Given the description of an element on the screen output the (x, y) to click on. 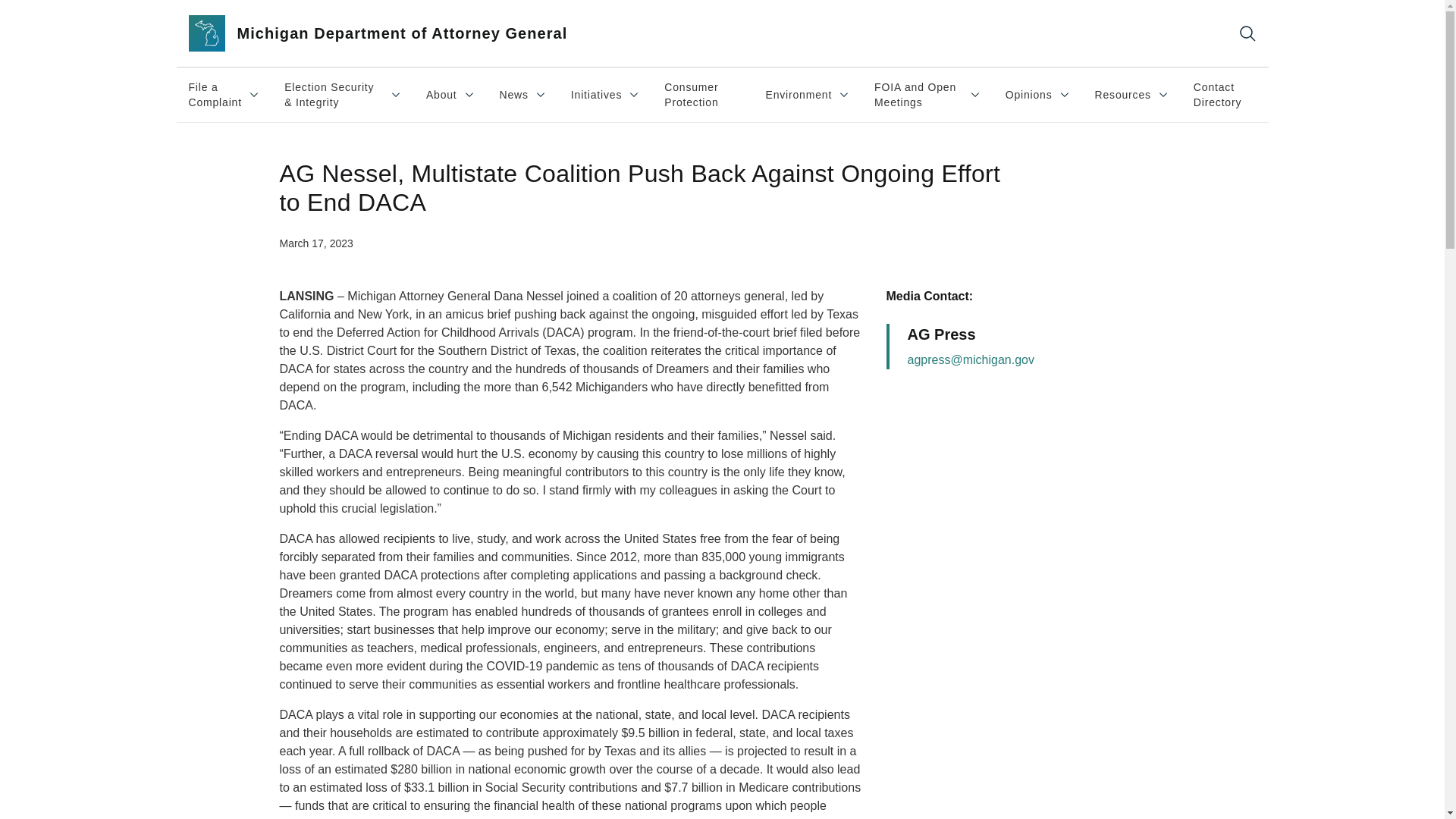
Michigan Department of Attorney General (395, 33)
Consumer Protection (926, 94)
Contact Directory (224, 94)
